Given the description of an element on the screen output the (x, y) to click on. 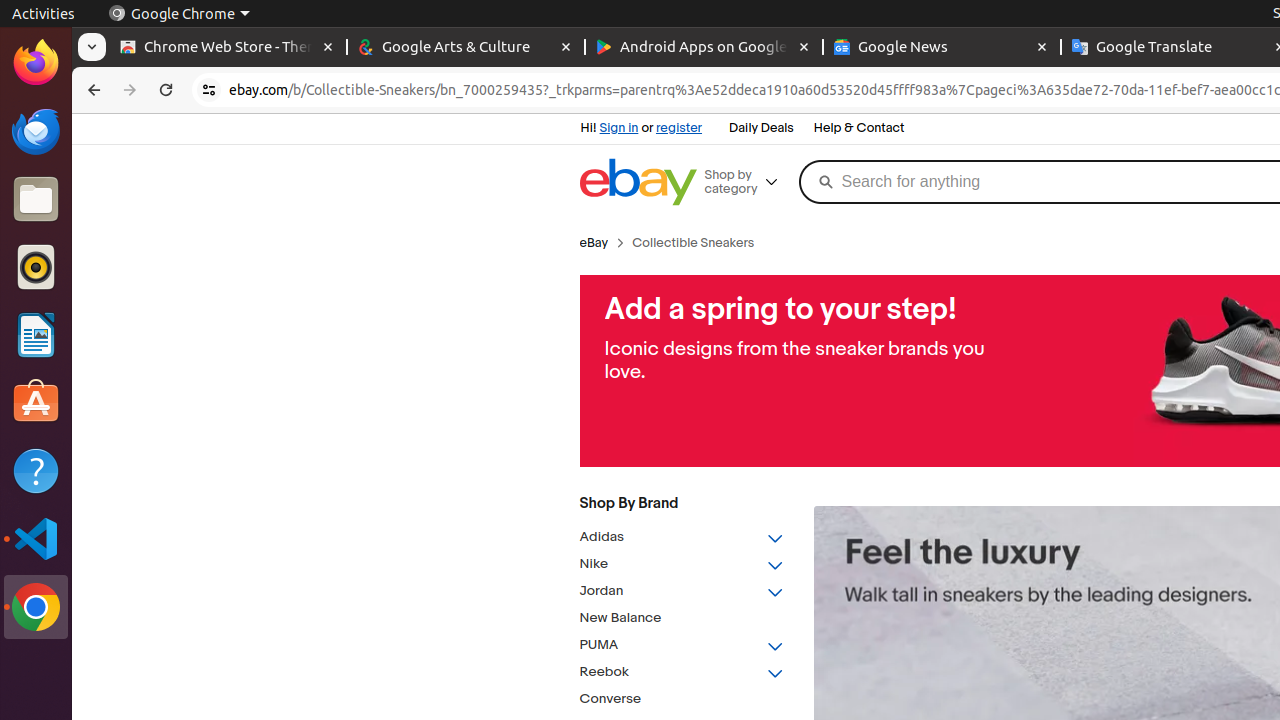
Rhythmbox Element type: push-button (36, 267)
Shop by category Element type: push-button (748, 182)
Thunderbird Mail Element type: push-button (36, 131)
Reebok Element type: push-button (682, 672)
Google Arts & Culture - Memory usage - 58.2 MB Element type: page-tab (466, 47)
